Given the description of an element on the screen output the (x, y) to click on. 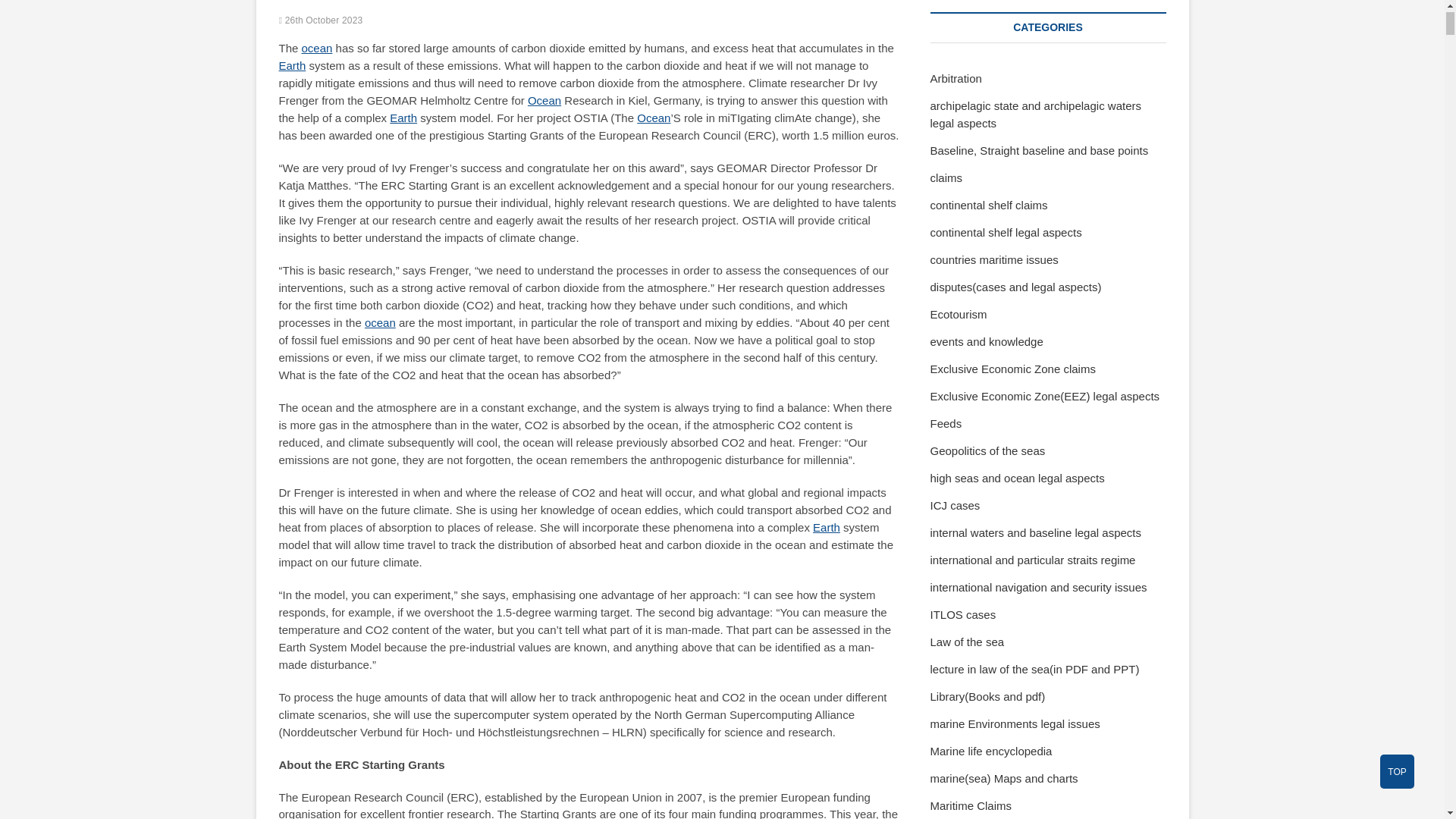
What Is the Ocean? (653, 117)
Earth (403, 117)
What Is the Ocean? (543, 100)
THE STRUCTURE OF EARTH (826, 526)
Ocean (653, 117)
Earth (826, 526)
THE STRUCTURE OF EARTH (292, 65)
THE STRUCTURE OF EARTH (403, 117)
26th October 2023 (320, 20)
ocean (380, 322)
ocean (317, 47)
Ocean (543, 100)
What Is the Ocean? (380, 322)
26th October 2023 (320, 20)
What Is the Ocean? (317, 47)
